Given the description of an element on the screen output the (x, y) to click on. 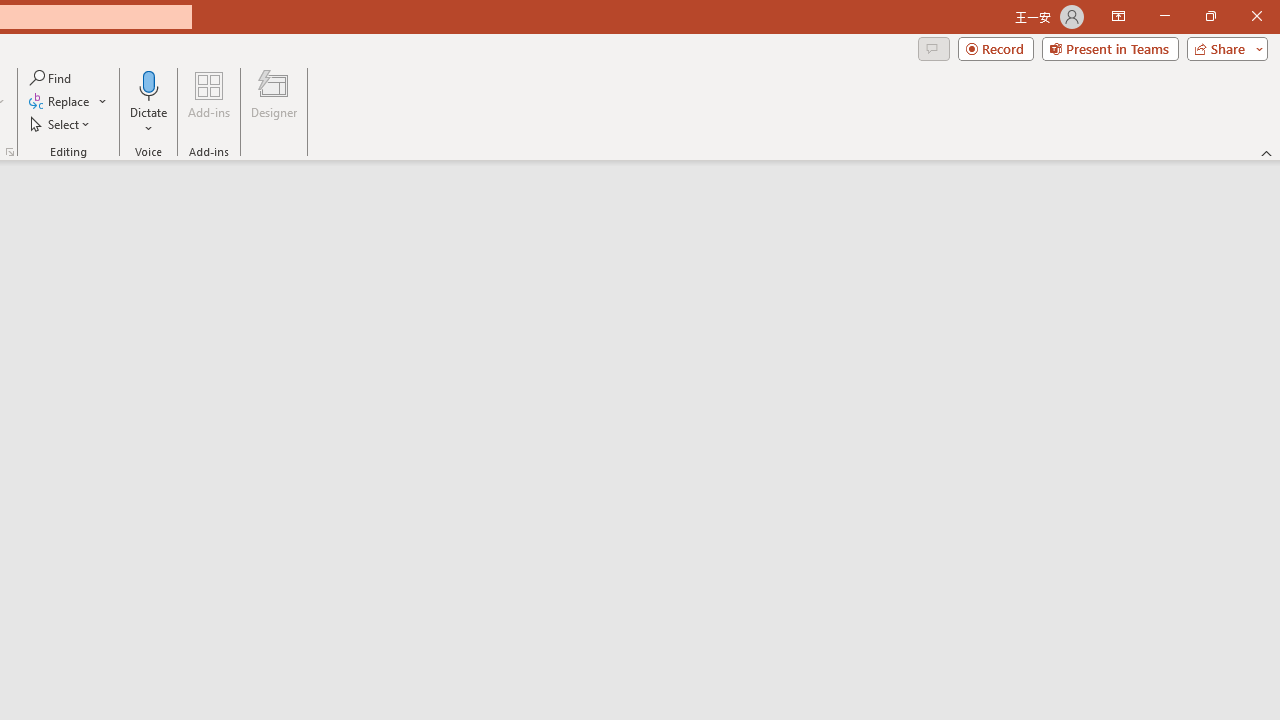
Find... (51, 78)
Select (61, 124)
